Given the description of an element on the screen output the (x, y) to click on. 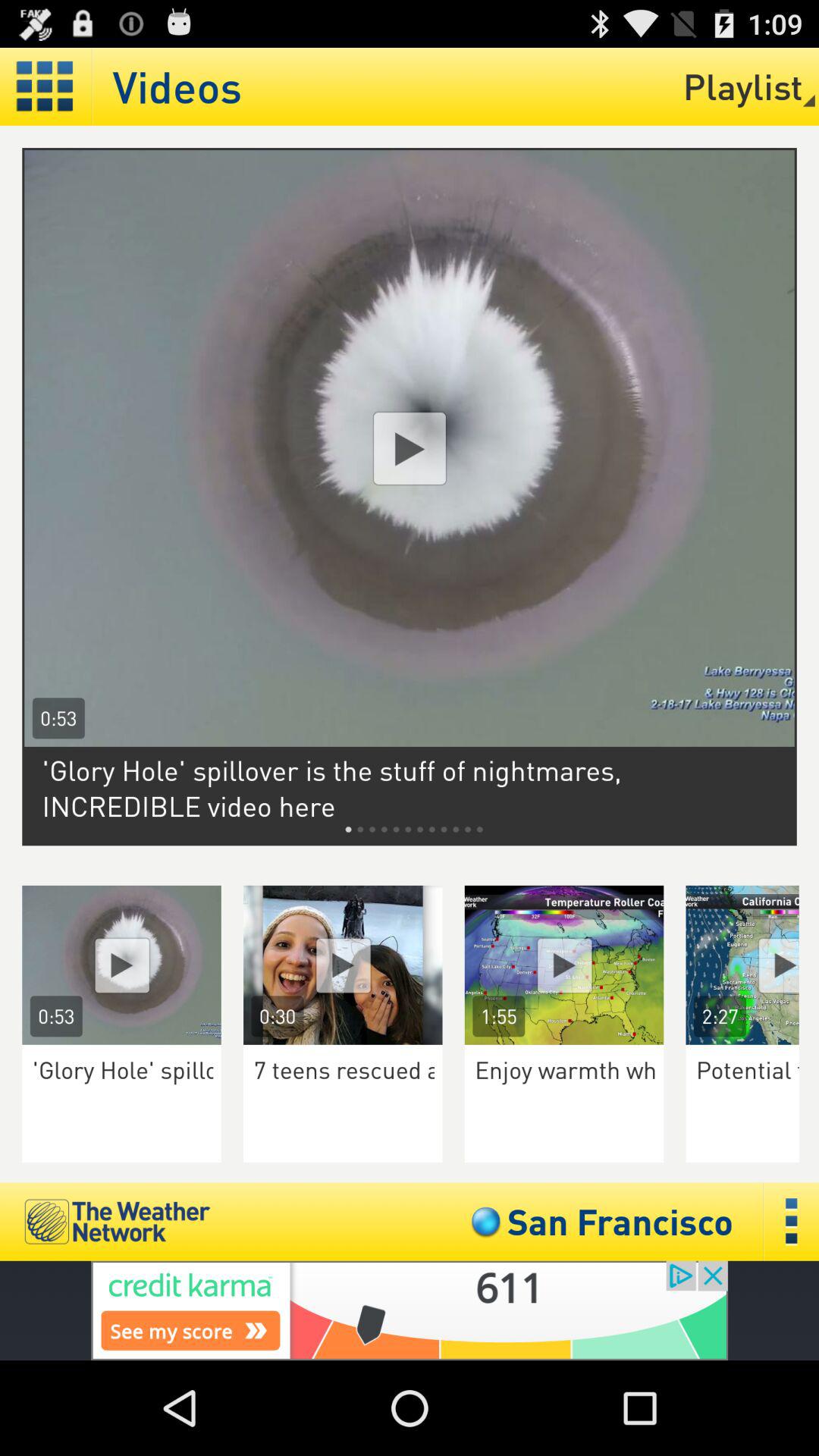
advertisement page (409, 448)
